Given the description of an element on the screen output the (x, y) to click on. 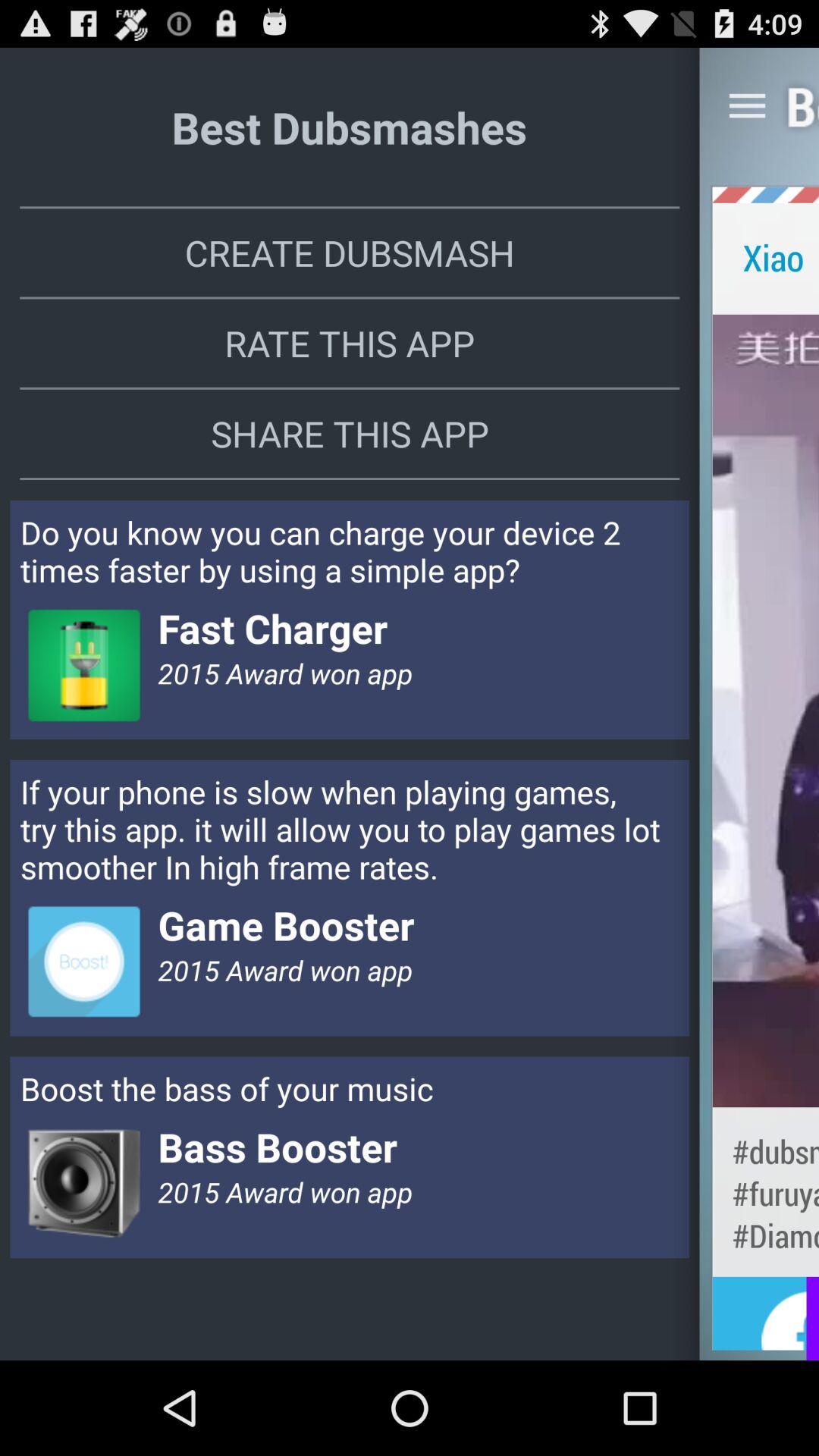
press item next to the rate this app item (765, 710)
